Given the description of an element on the screen output the (x, y) to click on. 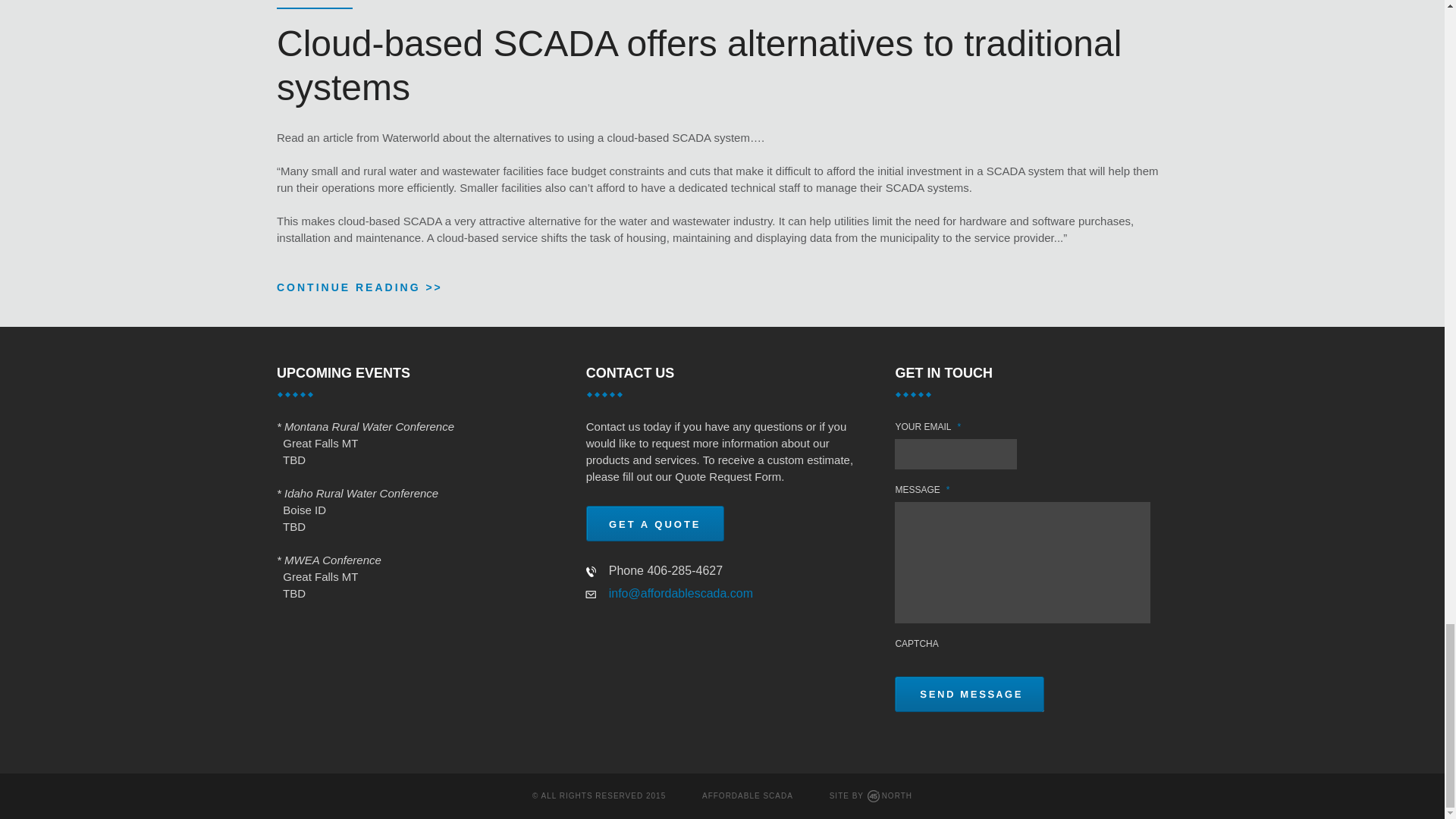
NORTH (889, 795)
406-285-4627 (684, 570)
AFFORDABLE SCADA (747, 795)
GET A QUOTE (654, 522)
